Given the description of an element on the screen output the (x, y) to click on. 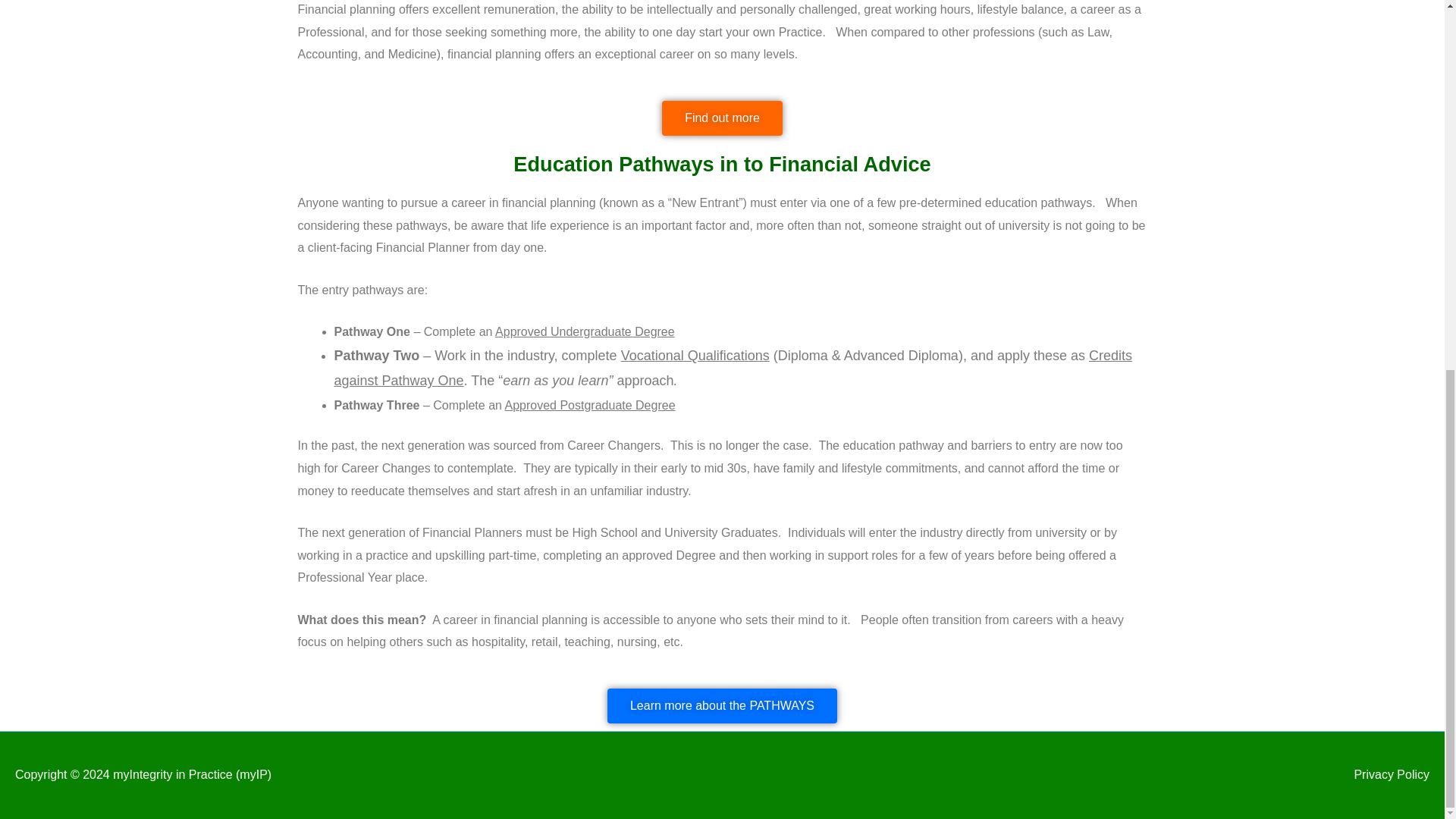
Learn more about the PATHWAYS (722, 705)
Find out more (722, 117)
